Given the description of an element on the screen output the (x, y) to click on. 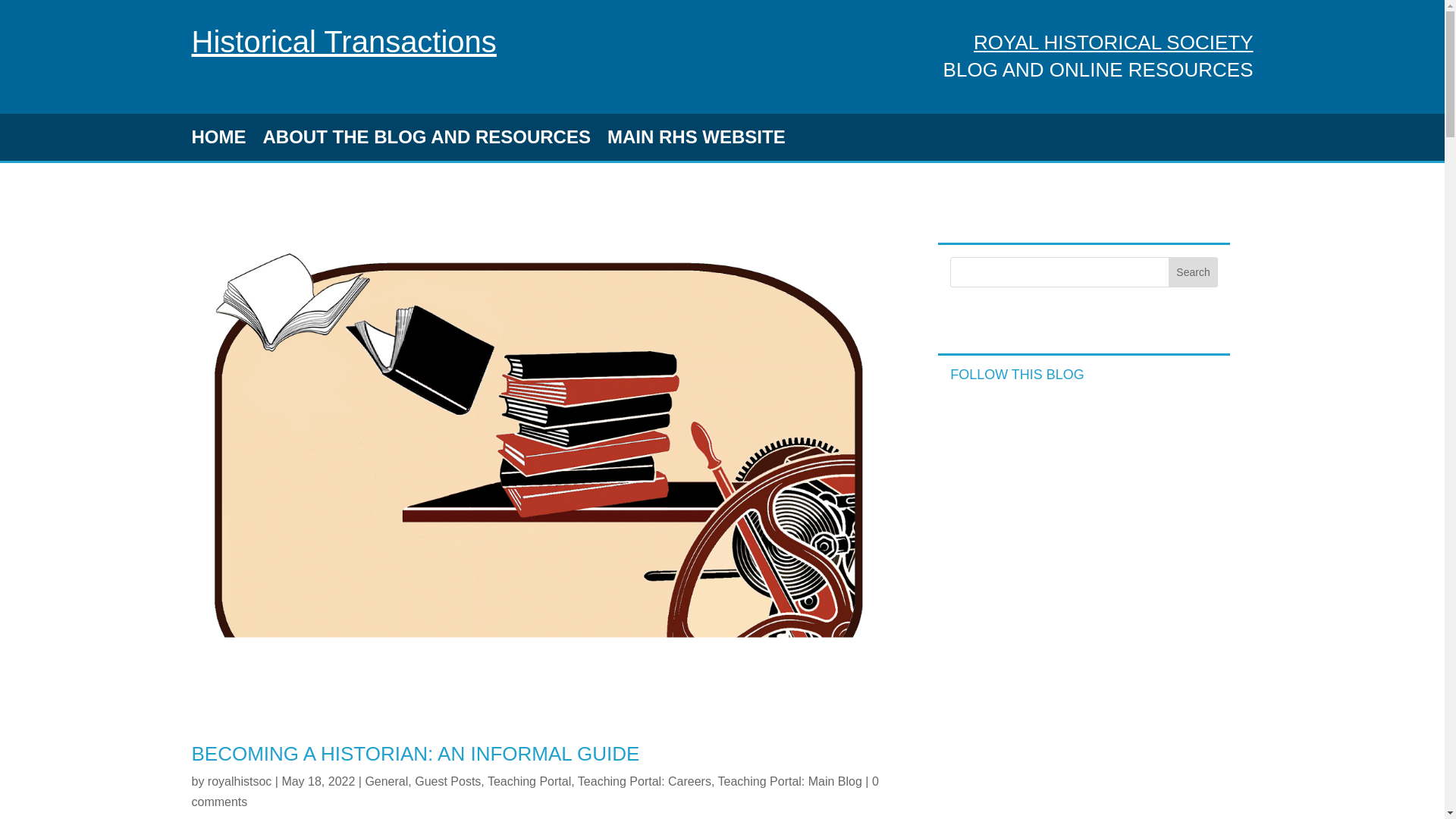
Historical Transactions (343, 41)
ROYAL HISTORICAL SOCIETY (1113, 42)
Teaching Portal: Careers (644, 780)
MAIN RHS WEBSITE (696, 139)
General (386, 780)
Search (1193, 272)
HOME (218, 139)
0 comments (533, 791)
royalhistsoc (239, 780)
Home (343, 41)
Teaching Portal: Main Blog (789, 780)
Guest Posts (447, 780)
Search (1193, 272)
Posts by royalhistsoc (239, 780)
ABOUT THE BLOG AND RESOURCES (425, 139)
